Given the description of an element on the screen output the (x, y) to click on. 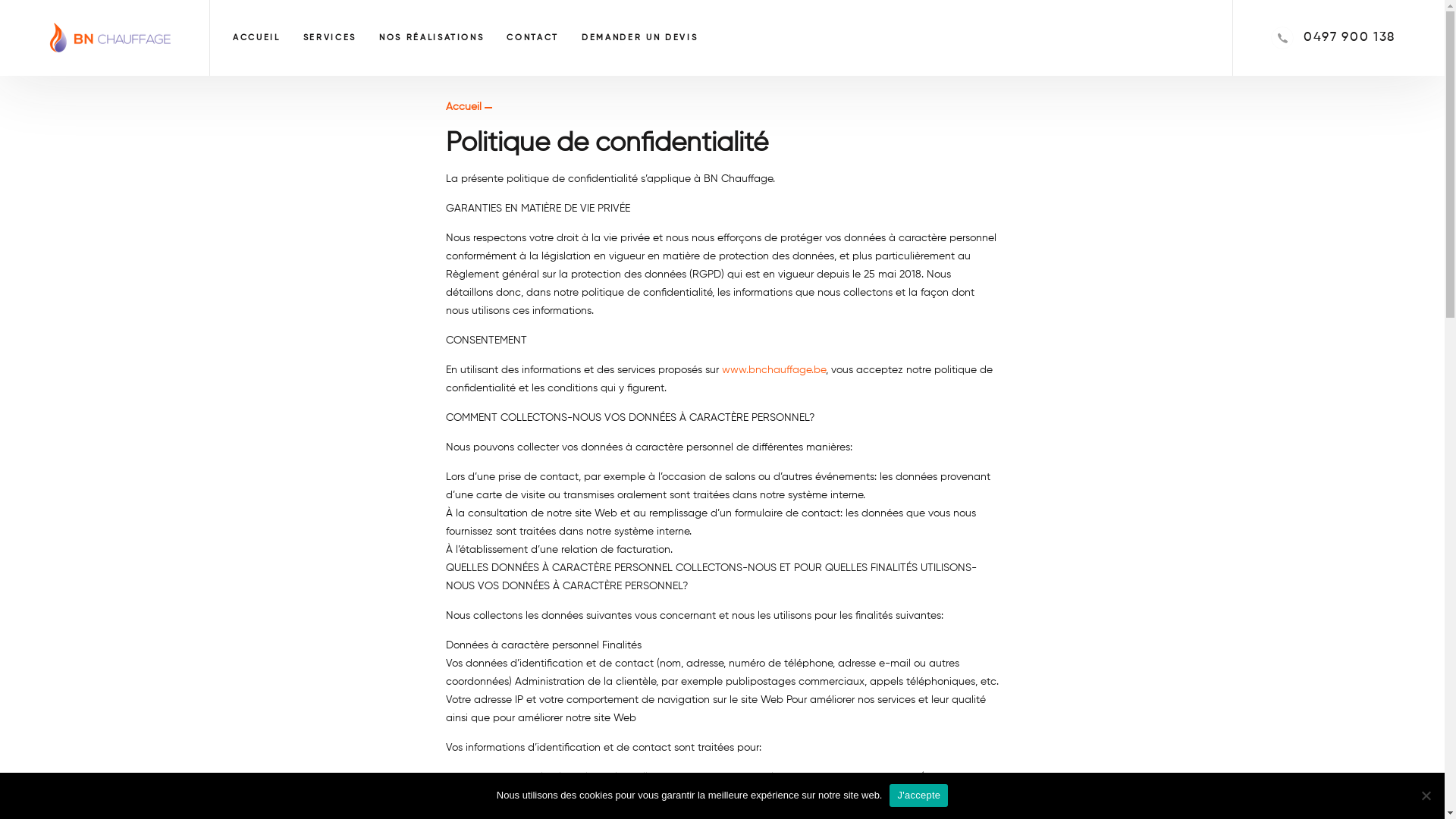
Accueil Element type: text (463, 106)
CONTACT Element type: text (532, 37)
DEMANDER UN DEVIS Element type: text (639, 37)
J'accepte Element type: text (918, 795)
0497 900 138 Element type: text (1349, 37)
www.bnchauffage.be Element type: text (773, 369)
SERVICES Element type: text (329, 37)
ACCUEIL Element type: text (256, 37)
Non Element type: hover (1425, 795)
